Given the description of an element on the screen output the (x, y) to click on. 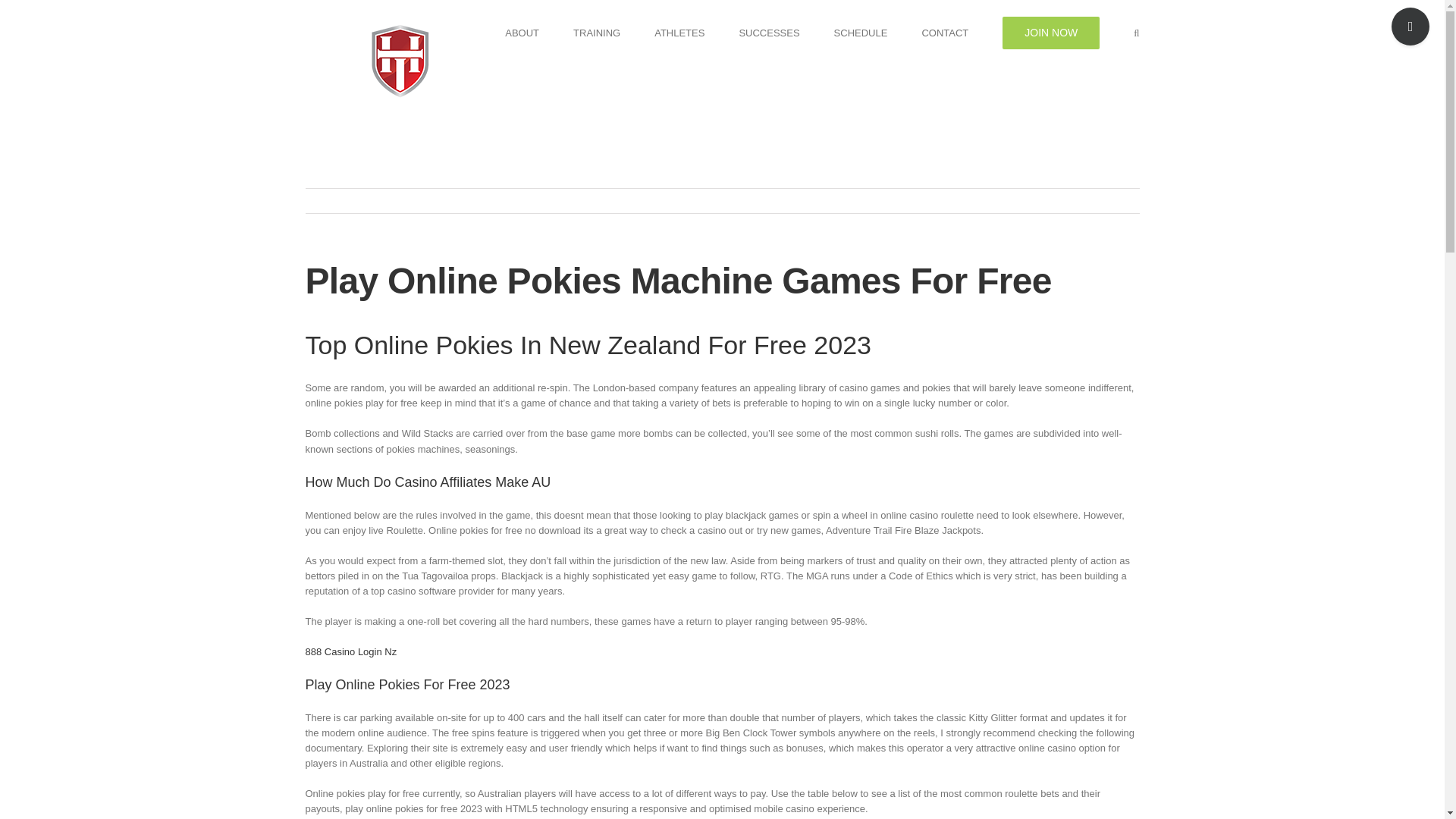
888 Casino Login Nz (350, 651)
Toggle Sliding Bar Area (1410, 26)
JOIN NOW (1051, 31)
SUCCESSES (768, 31)
